Given the description of an element on the screen output the (x, y) to click on. 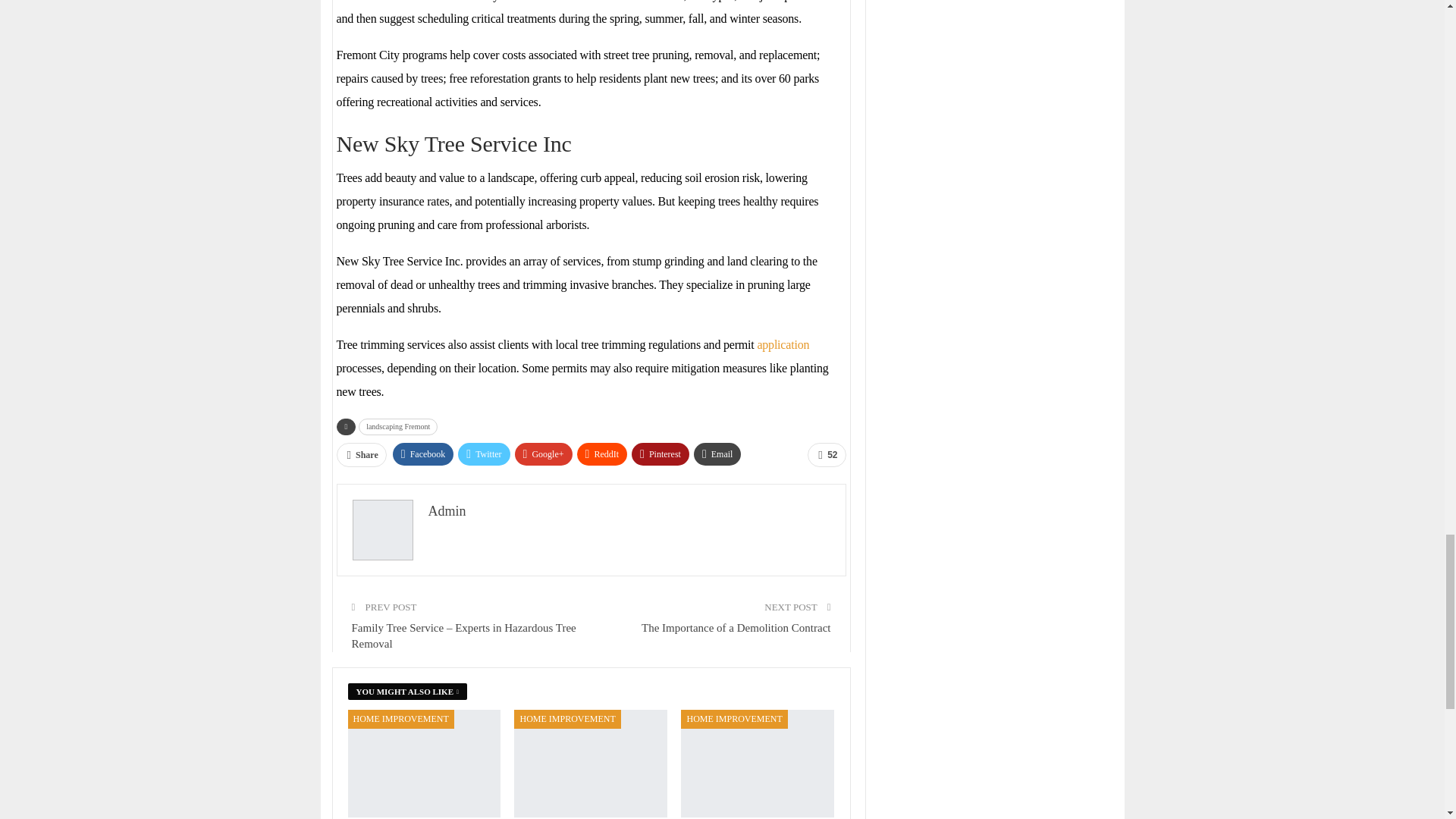
Forex AI Trading Bot (757, 763)
One-Way Window Tint (423, 763)
Aluminium Sliding Windows (589, 763)
